Given the description of an element on the screen output the (x, y) to click on. 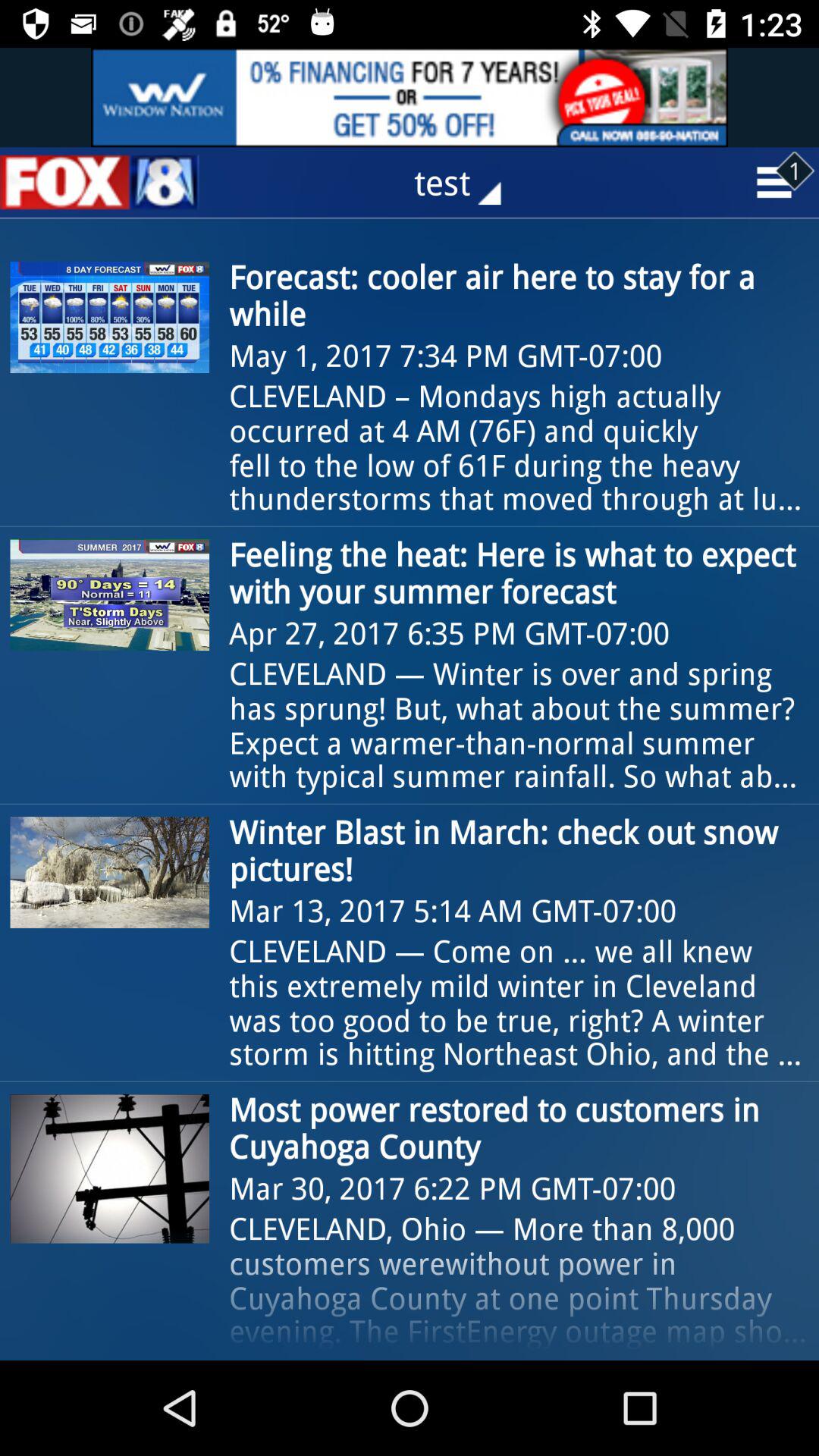
click the icon next to the test (99, 182)
